Given the description of an element on the screen output the (x, y) to click on. 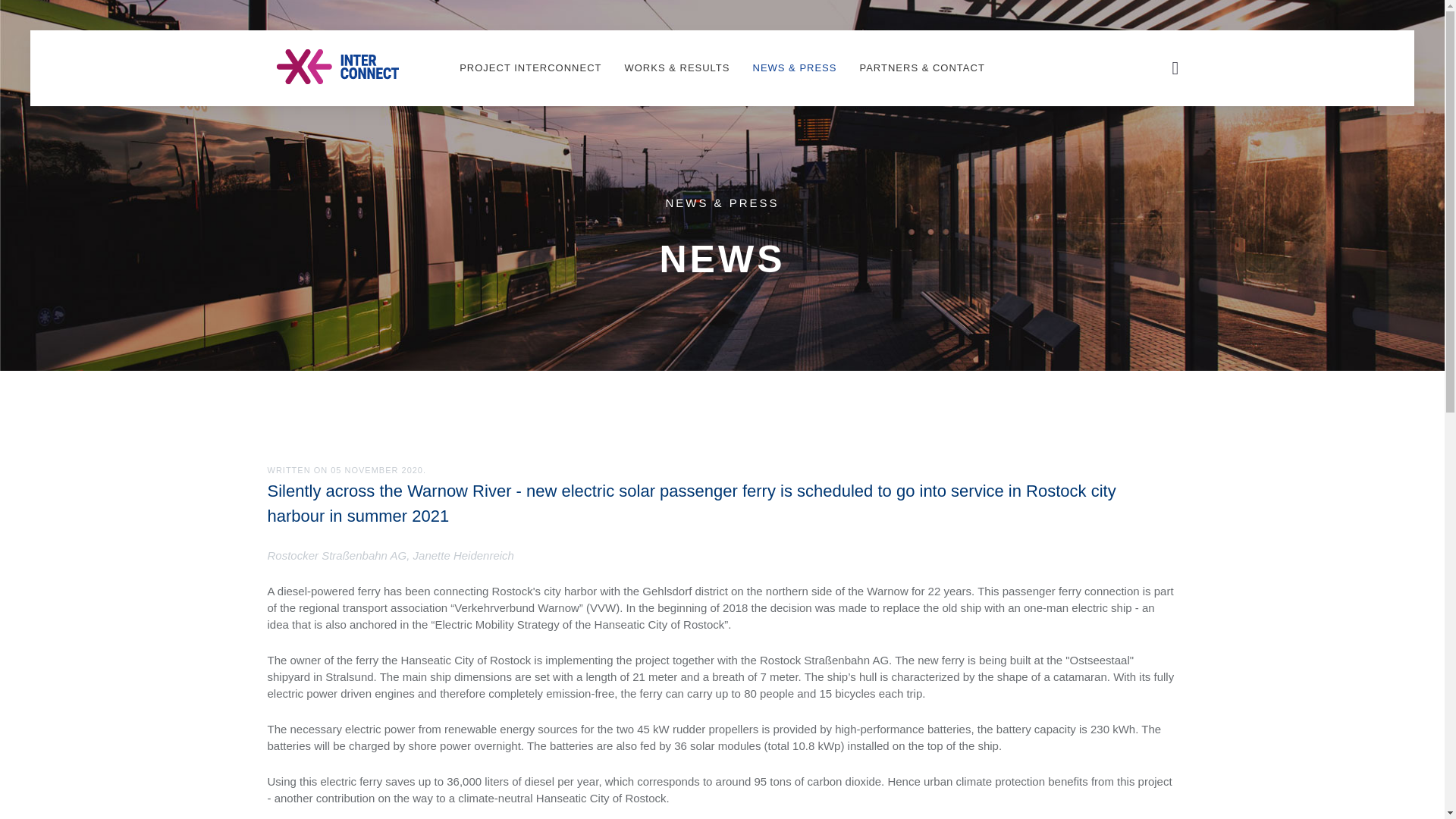
PROJECT INTERCONNECT (530, 68)
PROJECT INTERCONNECT (542, 717)
